Given the description of an element on the screen output the (x, y) to click on. 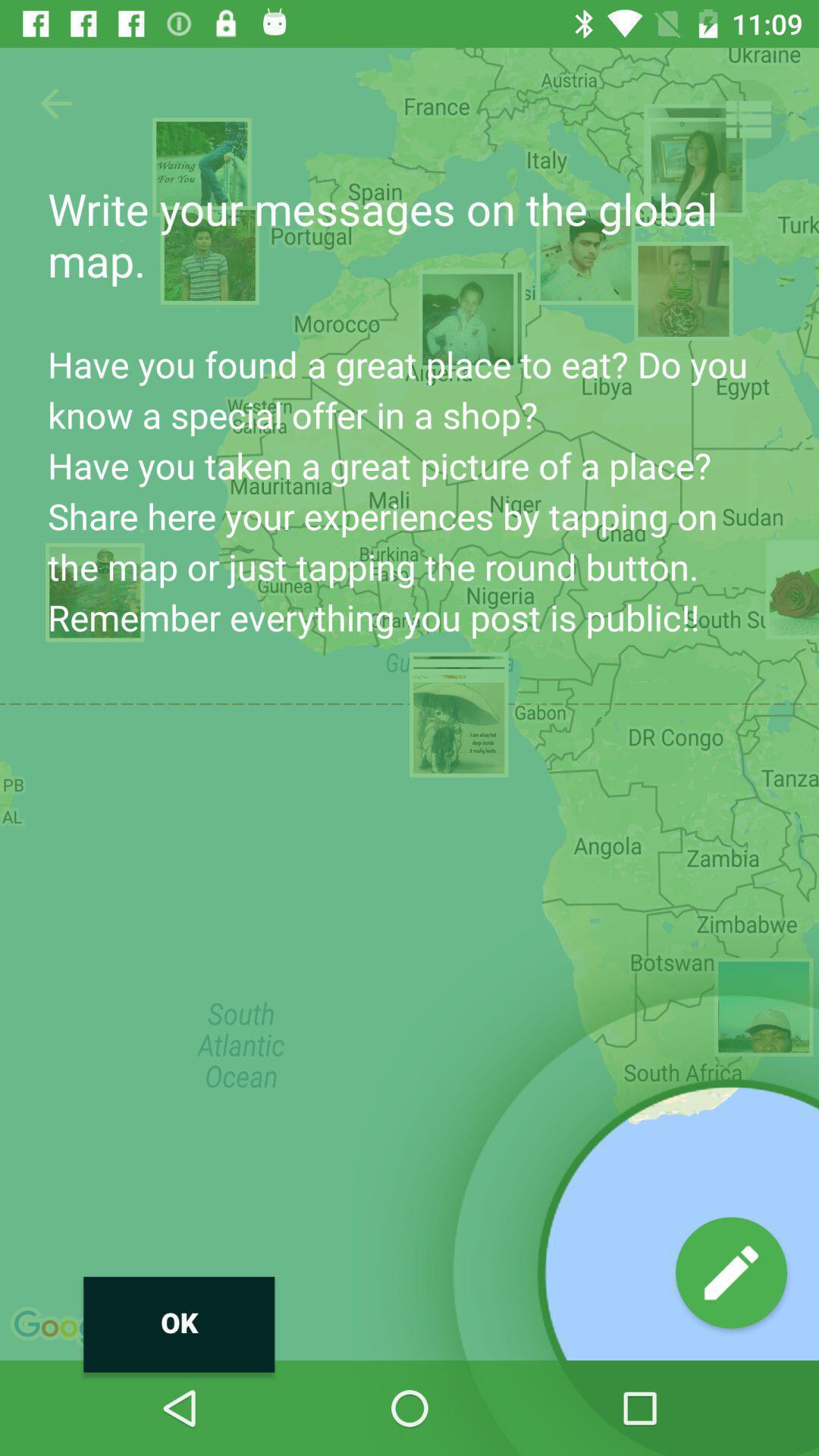
launch icon at the top right corner (747, 119)
